Given the description of an element on the screen output the (x, y) to click on. 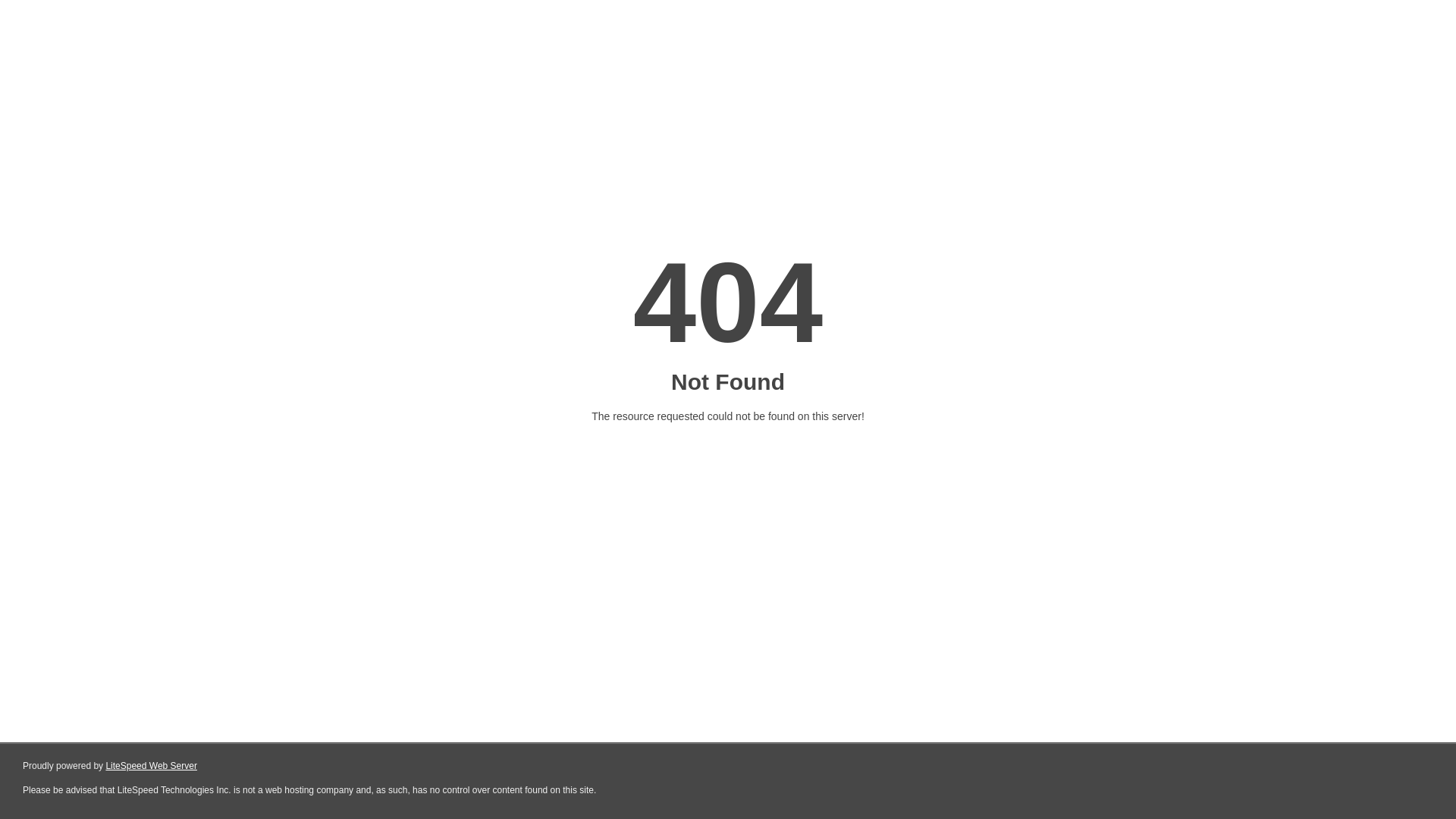
LiteSpeed Web Server Element type: text (151, 765)
